Given the description of an element on the screen output the (x, y) to click on. 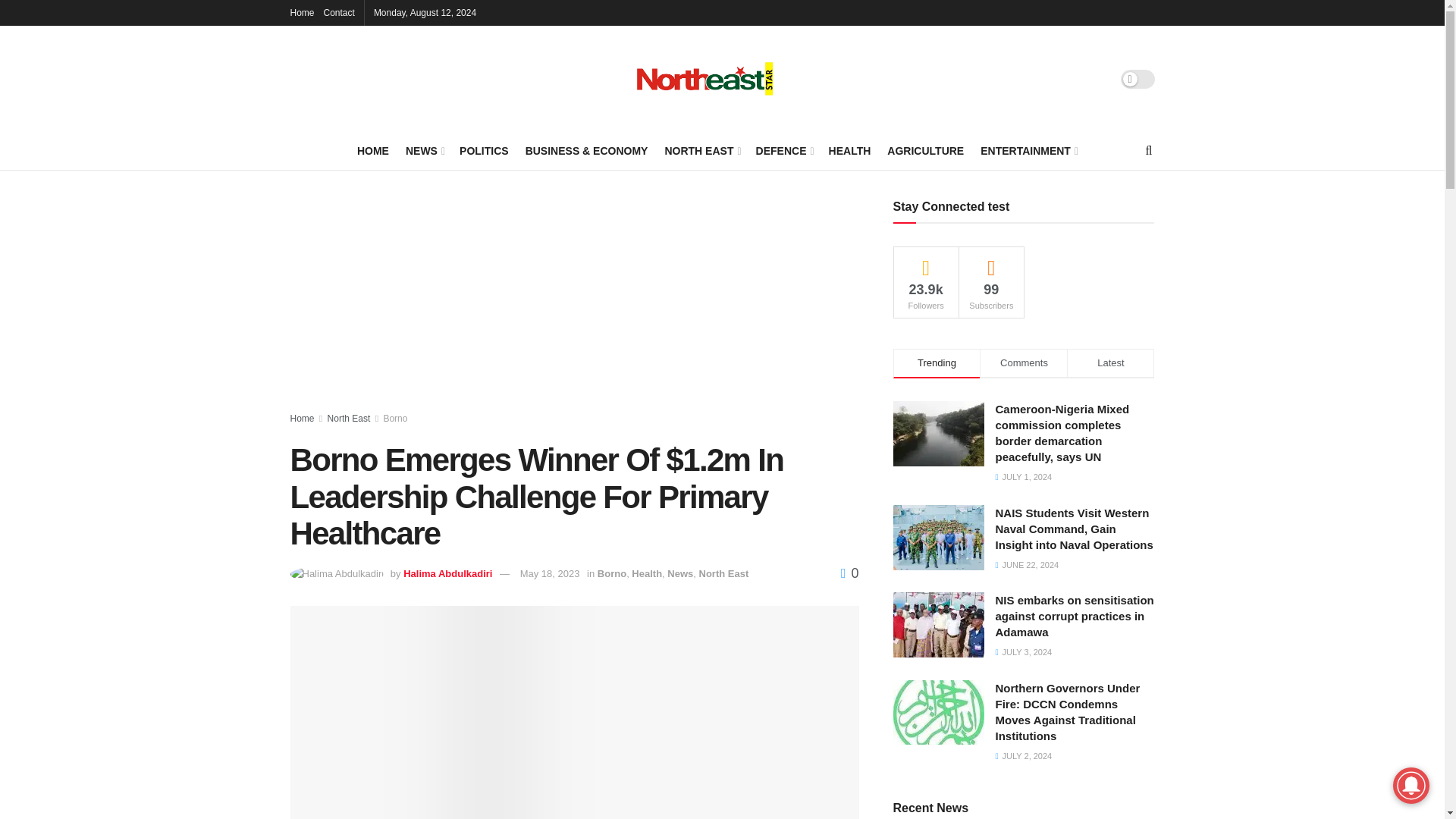
NEWS (424, 150)
POLITICS (484, 150)
Contact (339, 12)
NORTH EAST (700, 150)
HOME (372, 150)
Advertisement (574, 305)
Home (301, 12)
